Given the description of an element on the screen output the (x, y) to click on. 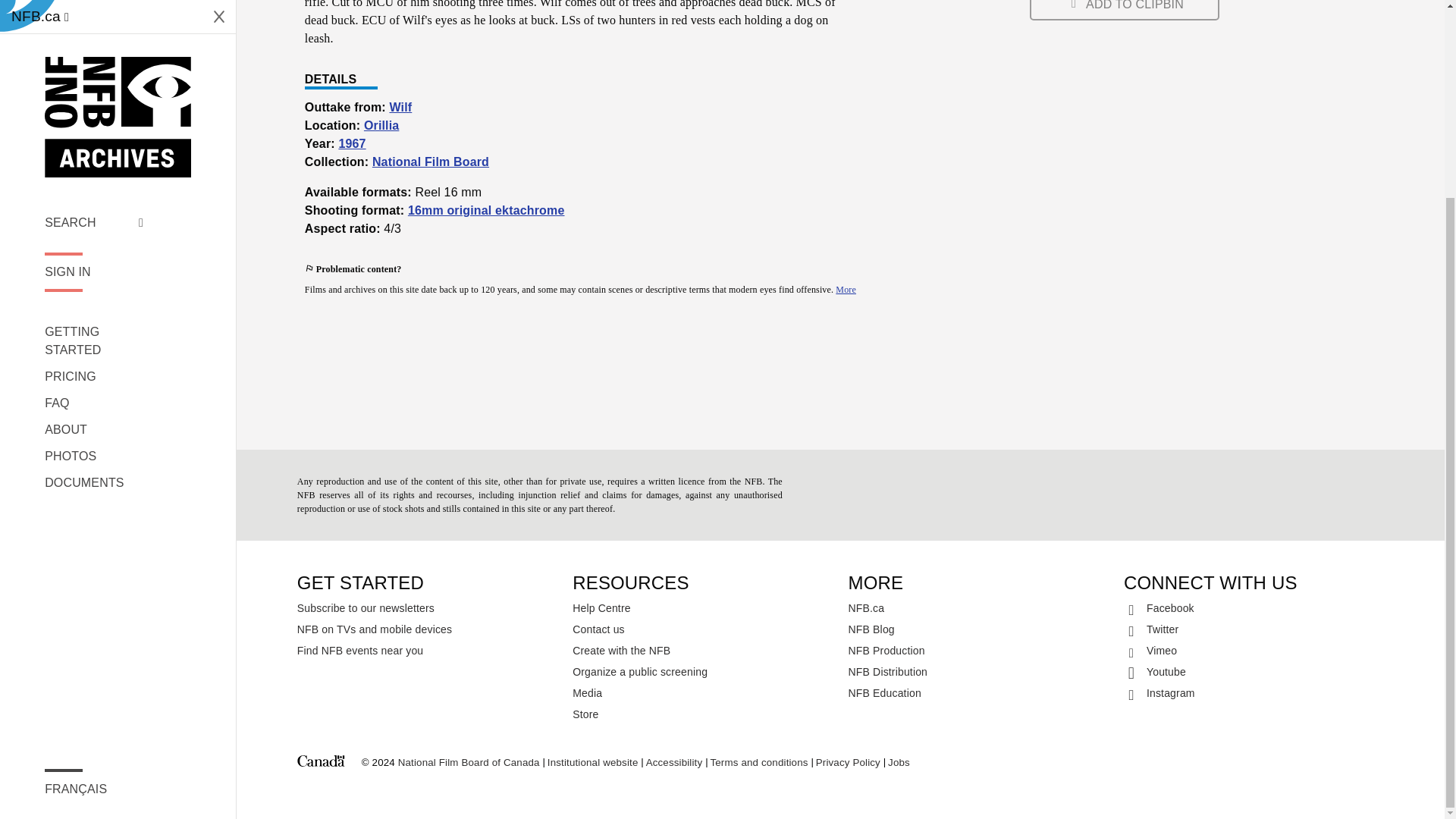
Subscribe to our newsletters (427, 608)
Help Centre (702, 608)
NFB on TVs and mobile devices (427, 629)
Orillia (381, 124)
Wilf (400, 106)
DOCUMENTS (93, 231)
Canada (321, 762)
GETTING STARTED (93, 90)
Organize a public screening (702, 671)
PRICING (93, 126)
